Given the description of an element on the screen output the (x, y) to click on. 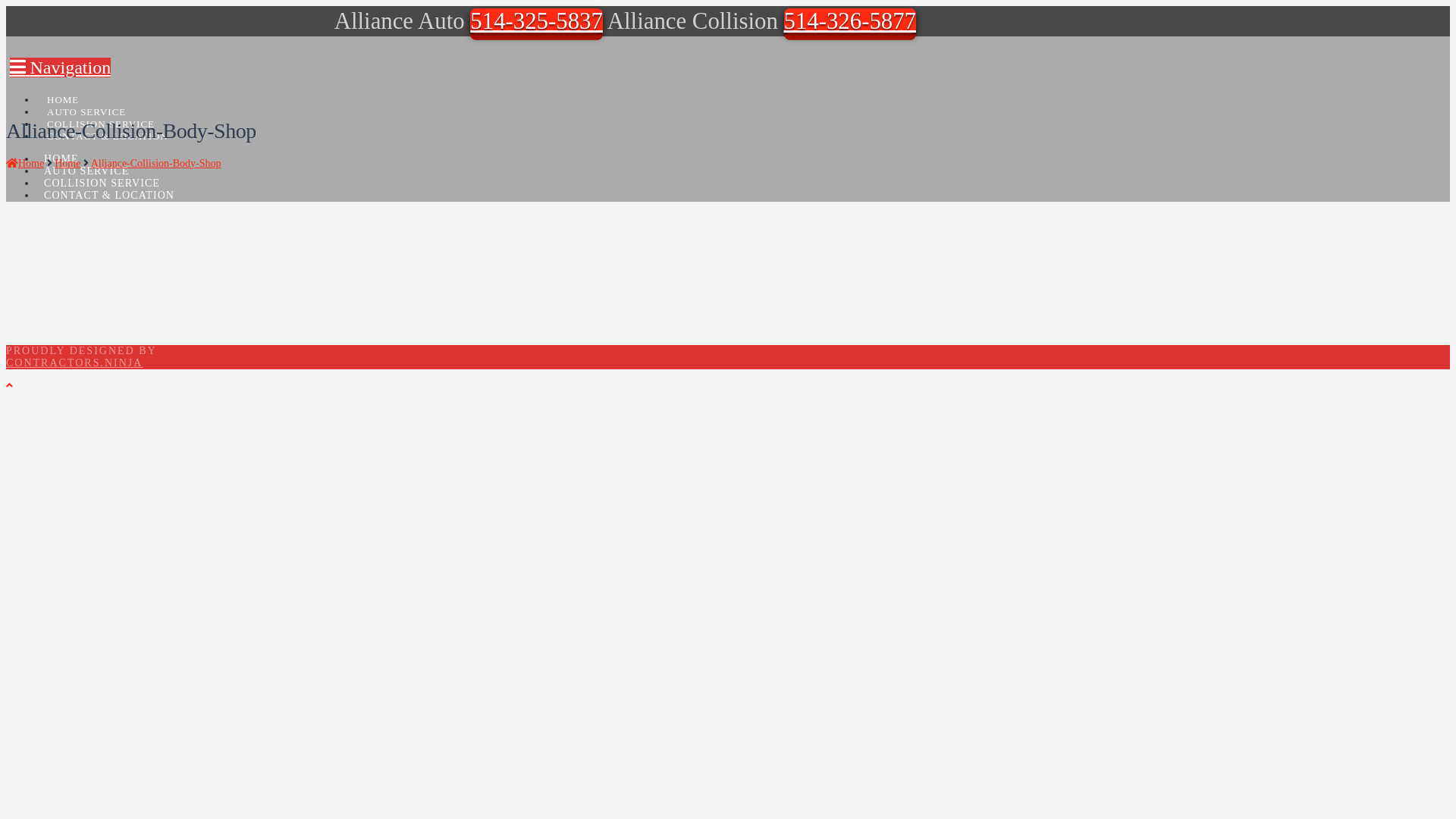
AUTO SERVICE Element type: text (85, 102)
CONTACT & LOCATION Element type: text (107, 126)
COLLISION SERVICE Element type: text (100, 114)
CONTACT & LOCATION Element type: text (109, 195)
CONTRACTORS.NINJA Element type: text (74, 362)
Back to Top Element type: hover (9, 385)
Home Element type: text (24, 163)
Navigation Element type: text (59, 67)
HOME Element type: text (62, 89)
COLLISION SERVICE Element type: text (101, 182)
AUTO SERVICE Element type: text (86, 170)
Home Element type: text (67, 163)
HOME Element type: text (61, 158)
514-325-5837 Element type: text (536, 21)
514-326-5877 Element type: text (850, 21)
Alliance-Collision-Body-Shop Element type: text (156, 163)
